Given the description of an element on the screen output the (x, y) to click on. 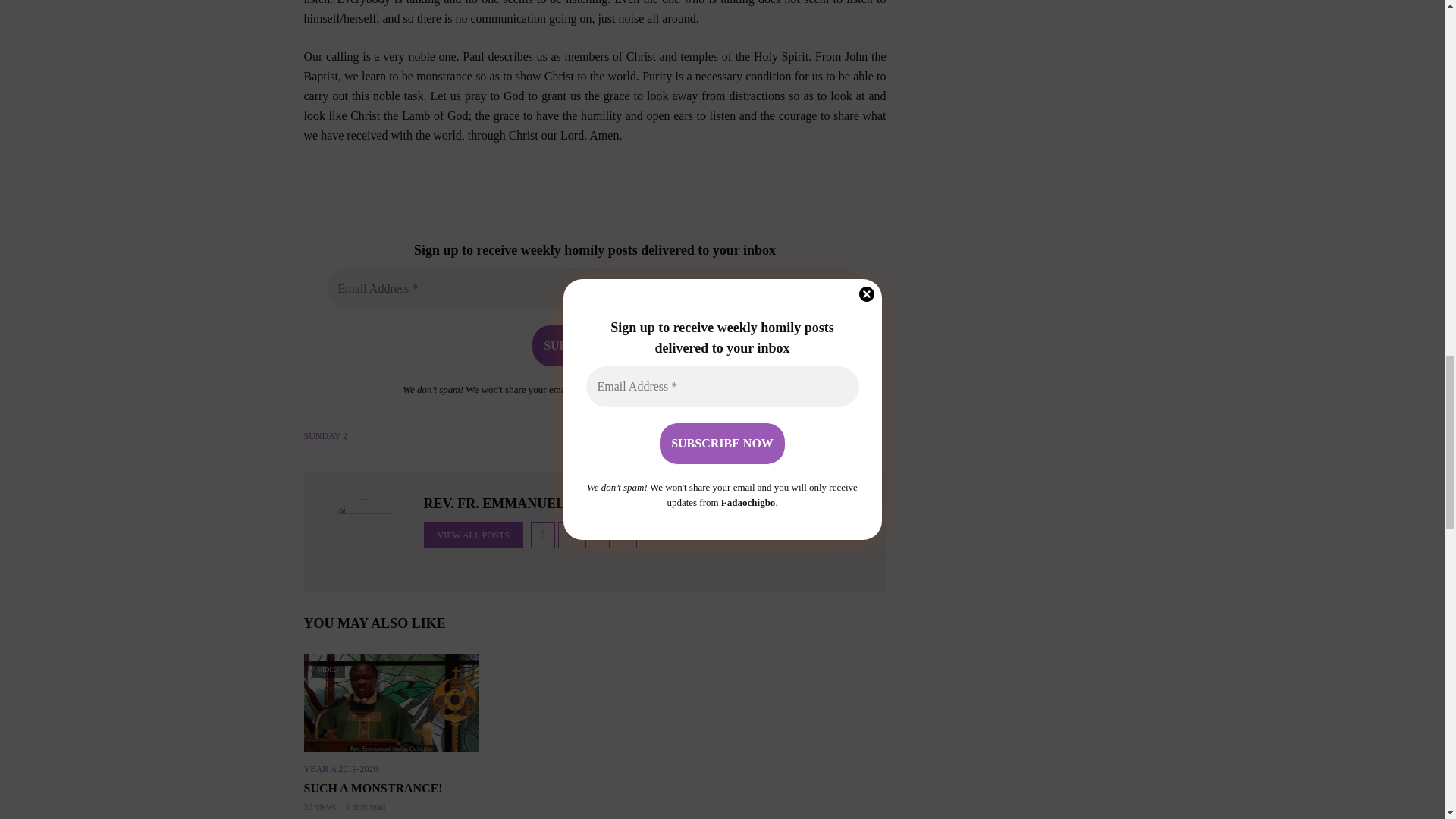
Subscribe Now (594, 345)
